Given the description of an element on the screen output the (x, y) to click on. 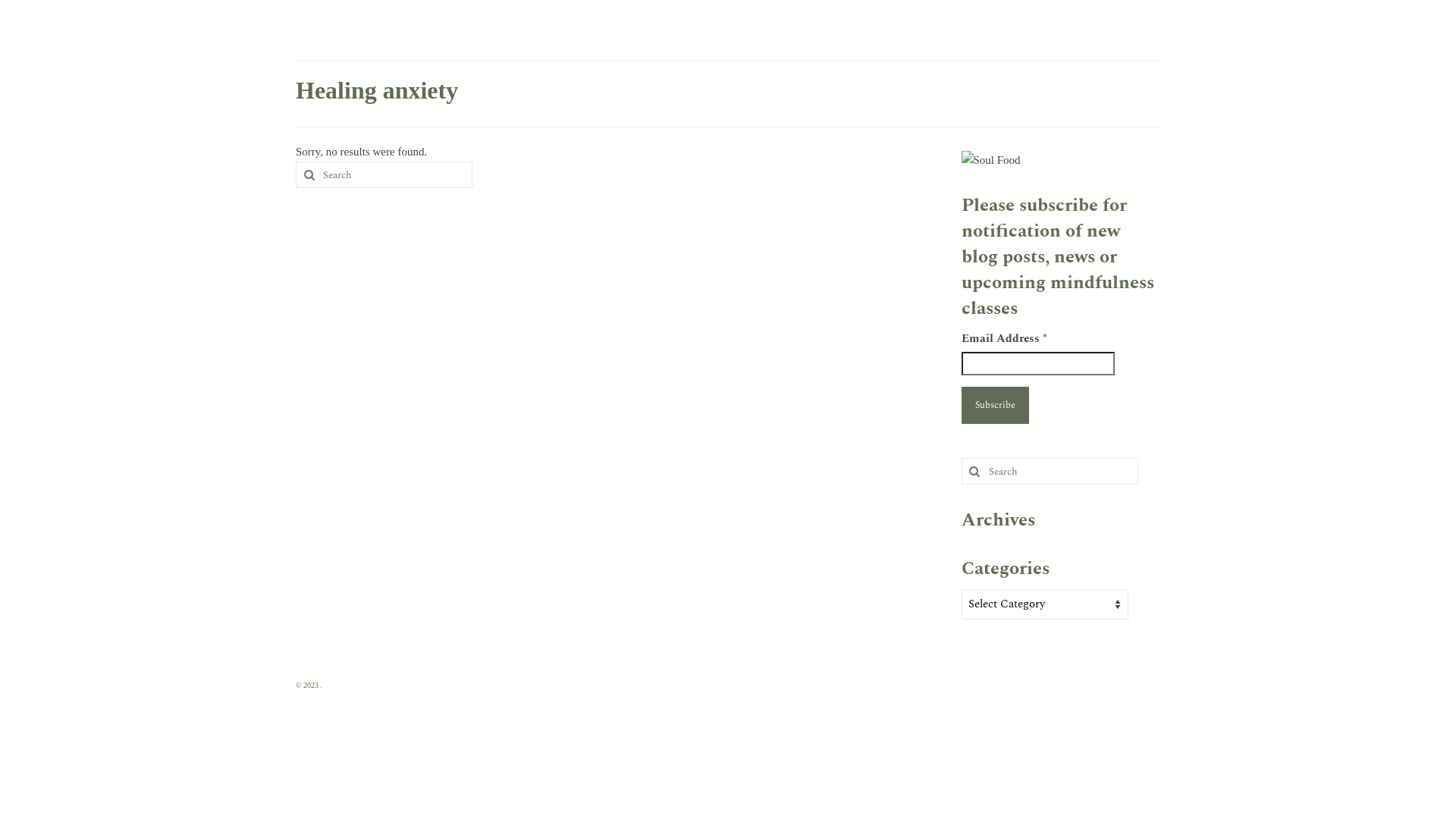
Subscribe Element type: text (995, 404)
